Given the description of an element on the screen output the (x, y) to click on. 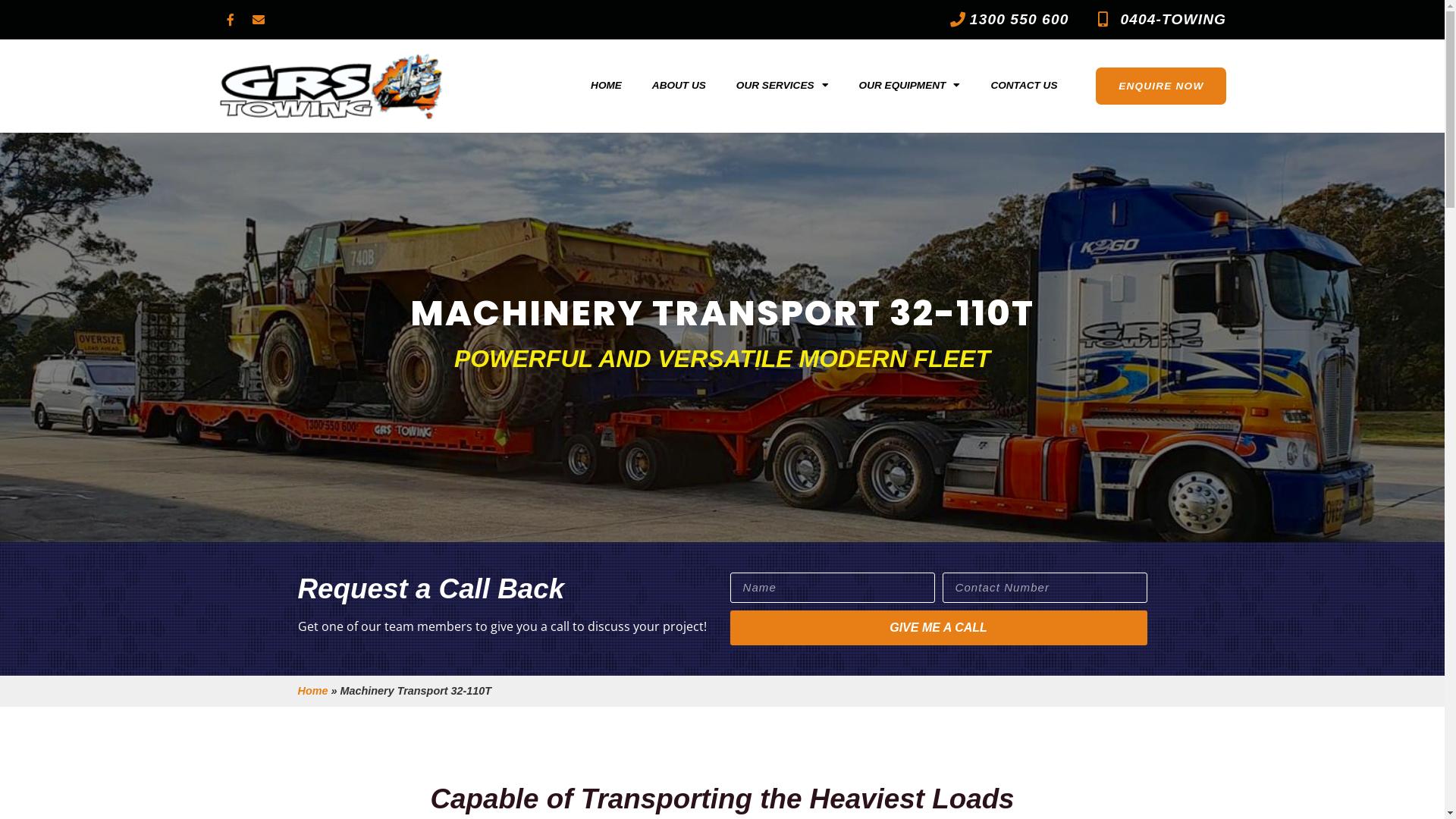
OUR SERVICES Element type: text (782, 85)
ABOUT US Element type: text (679, 85)
1300 550 600 Element type: text (982, 20)
Home Element type: text (312, 690)
CONTACT US Element type: text (1023, 85)
GIVE ME A CALL Element type: text (937, 626)
ENQUIRE NOW Element type: text (1160, 85)
OUR EQUIPMENT Element type: text (909, 85)
0404-TOWING Element type: text (1154, 20)
HOME Element type: text (606, 85)
